Given the description of an element on the screen output the (x, y) to click on. 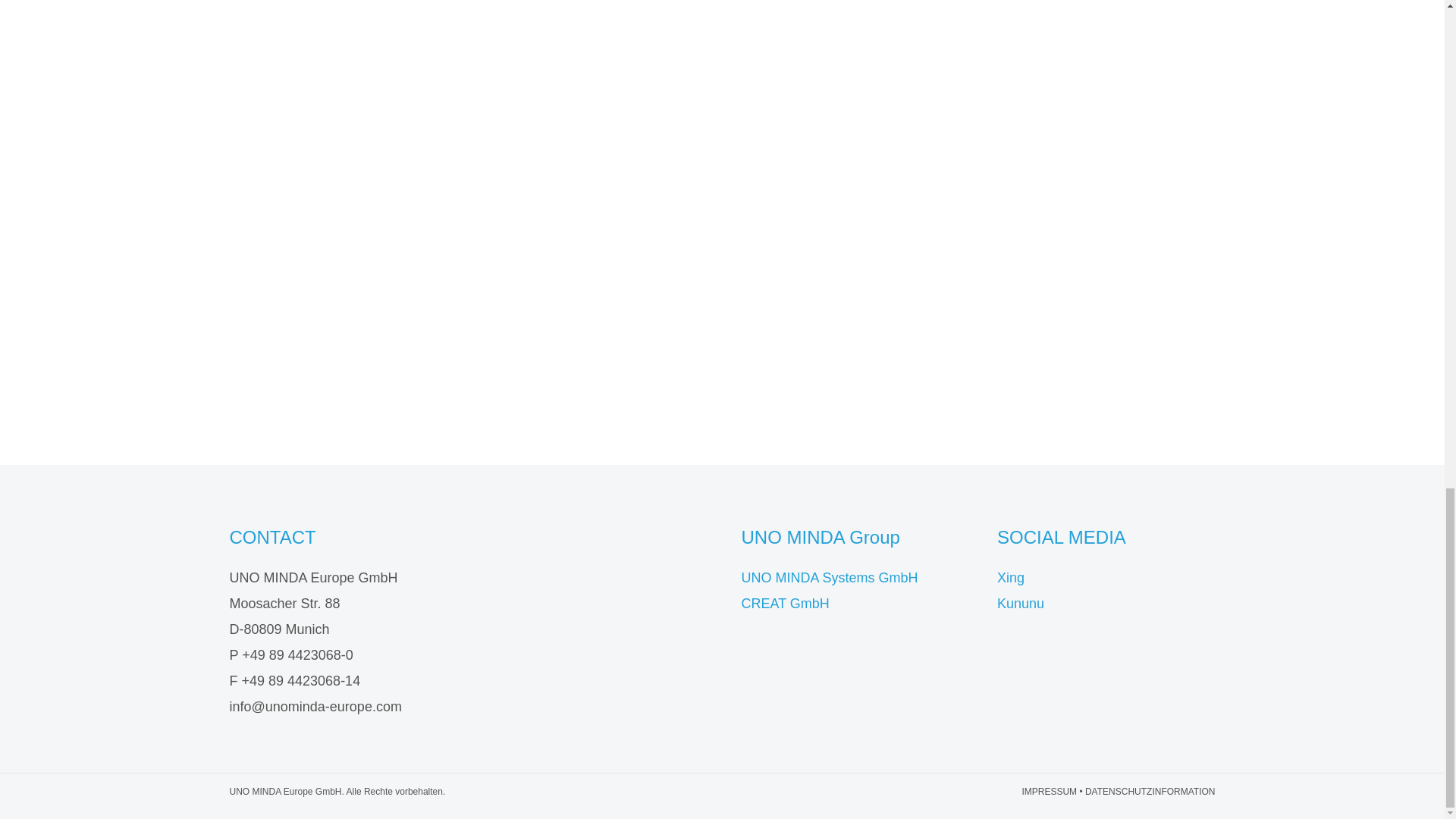
Kununu (1020, 603)
Xing (1011, 577)
IMPRESSUM (1050, 791)
UNO MINDA Systems GmbH (829, 577)
DATENSCHUTZINFORMATION (1149, 791)
CREAT GmbH (785, 603)
